Given the description of an element on the screen output the (x, y) to click on. 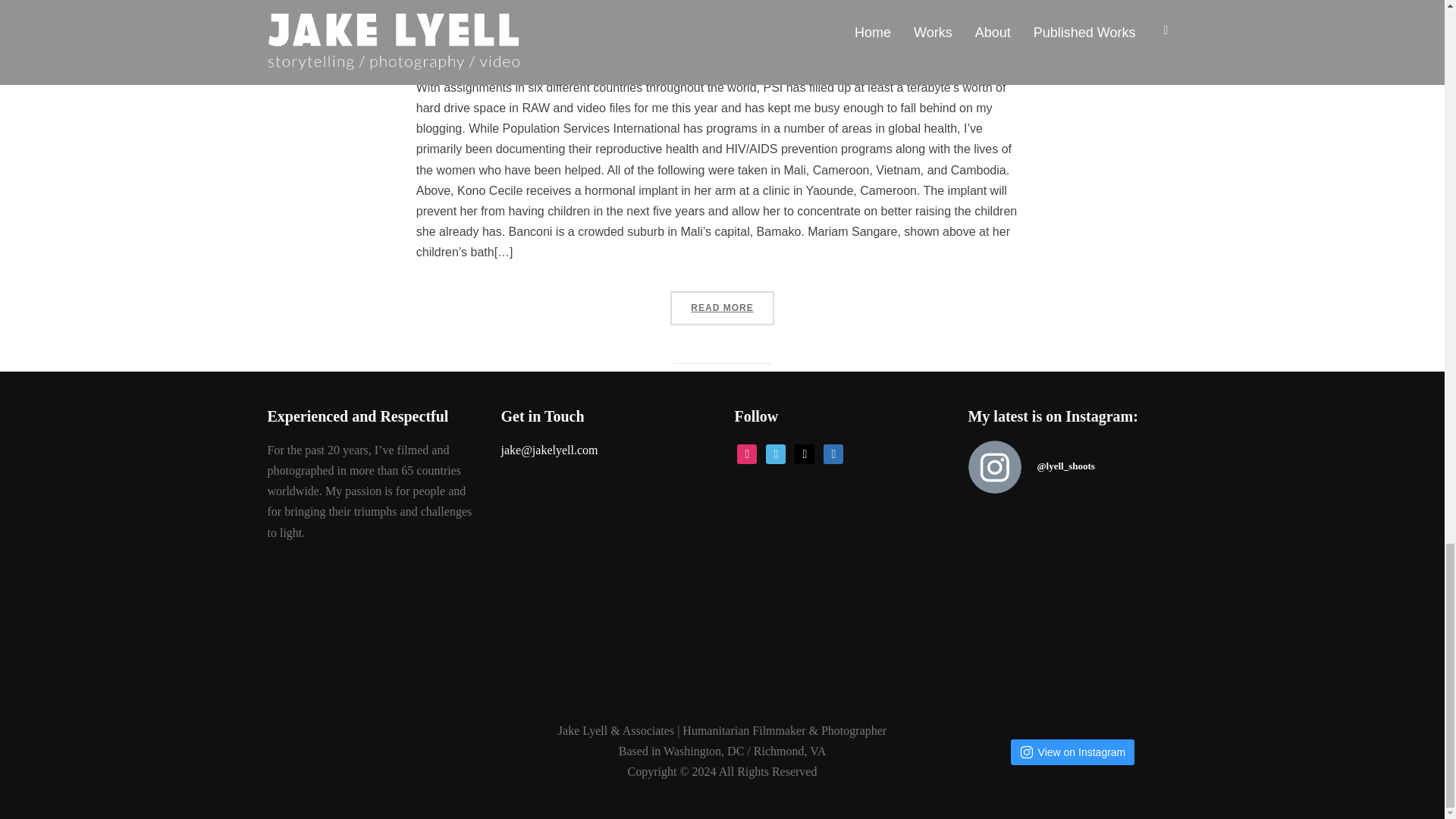
Default Label (775, 452)
Default Label (803, 452)
Default Label (833, 452)
Instagram (746, 452)
linkedin (833, 452)
mail (803, 452)
instagram (746, 452)
vimeo (775, 452)
READ MORE (721, 307)
